Given the description of an element on the screen output the (x, y) to click on. 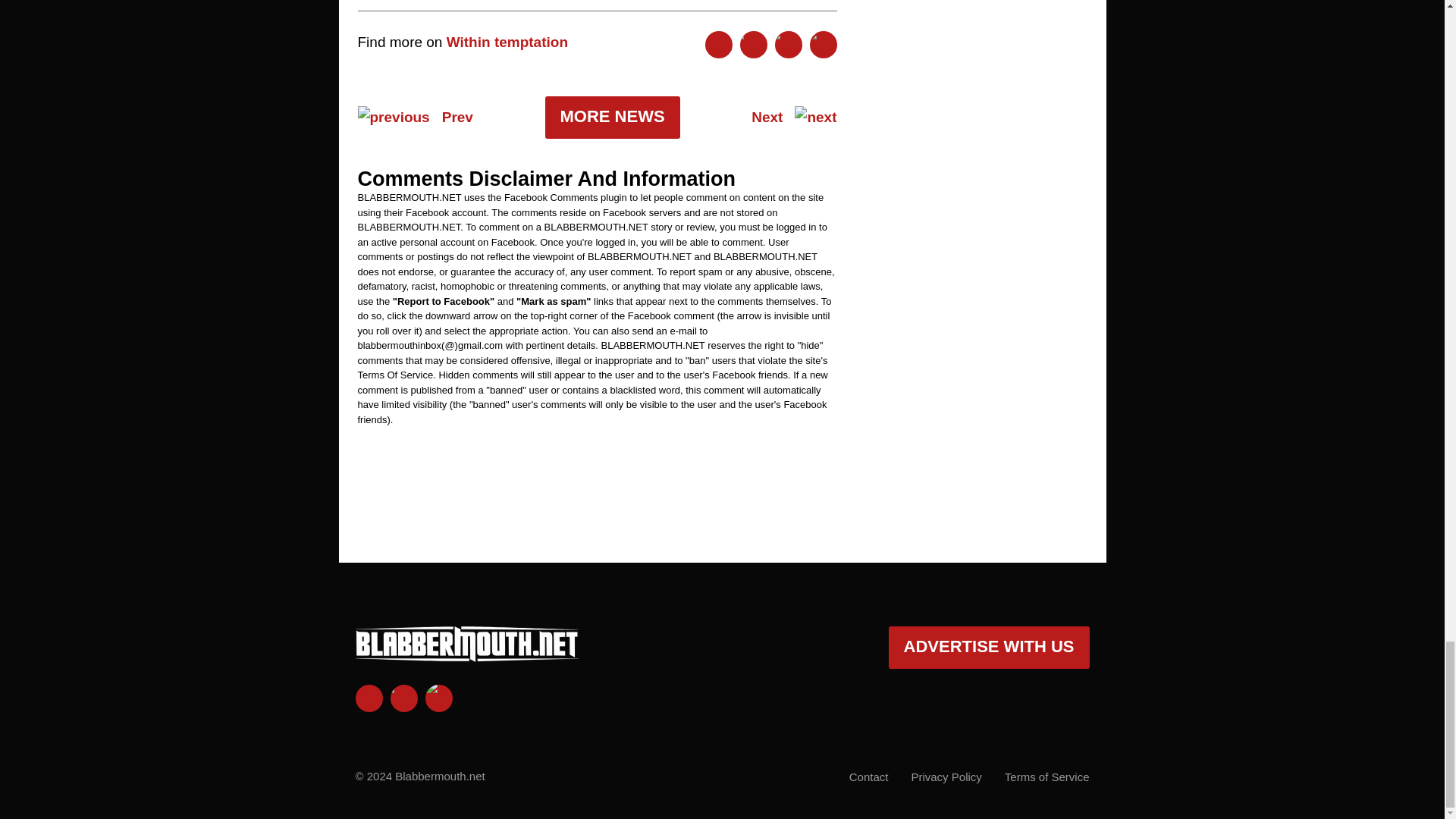
Within temptation (506, 41)
Share On Reddit (788, 44)
Share On Facebook (718, 44)
Share On Twitter (753, 44)
Copy To Clipboard (823, 44)
blabbermouth (466, 654)
